Given the description of an element on the screen output the (x, y) to click on. 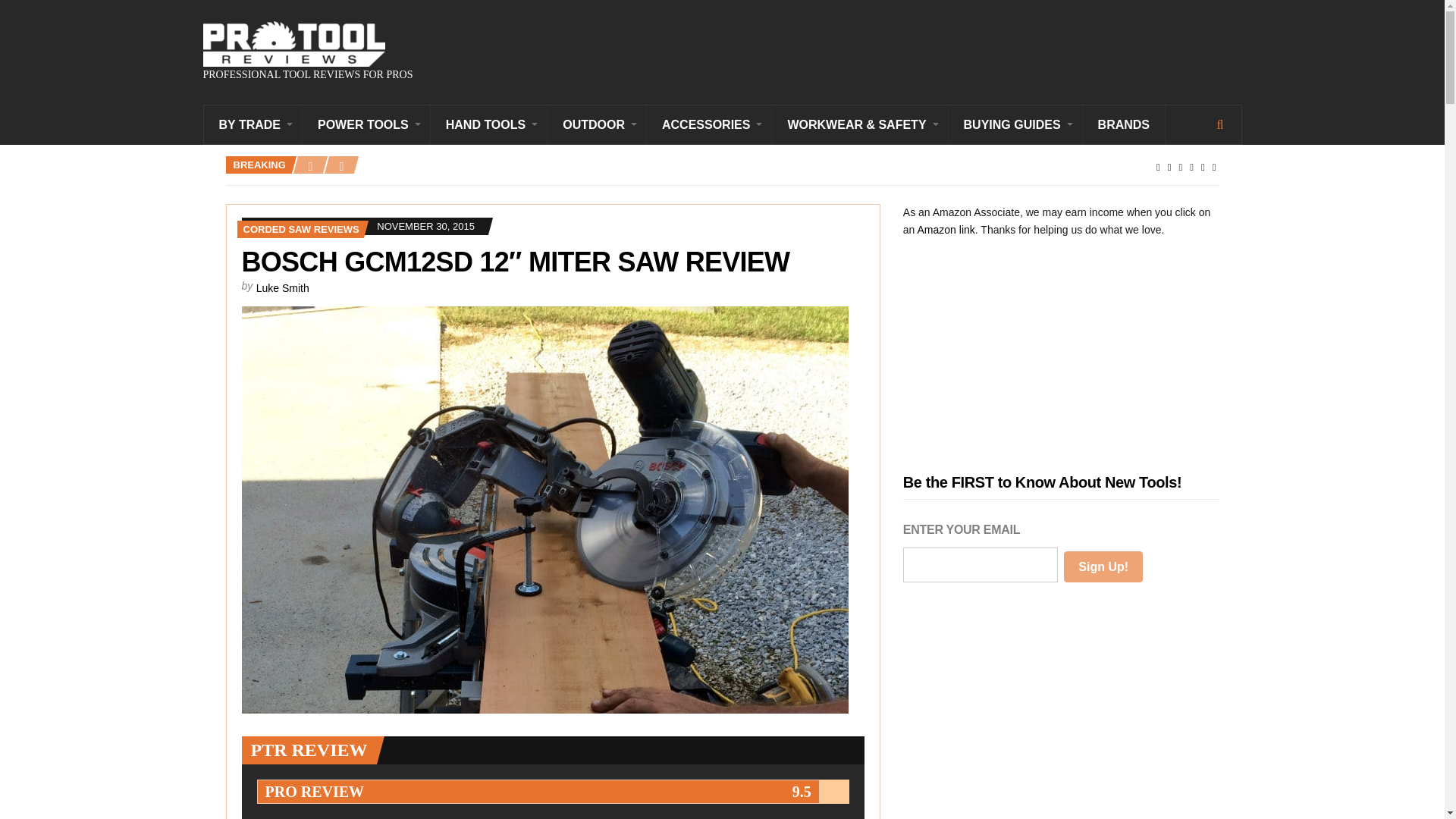
BY TRADE (252, 124)
Sign Up! (1103, 566)
HAND TOOLS (488, 124)
POWER TOOLS (366, 124)
